Given the description of an element on the screen output the (x, y) to click on. 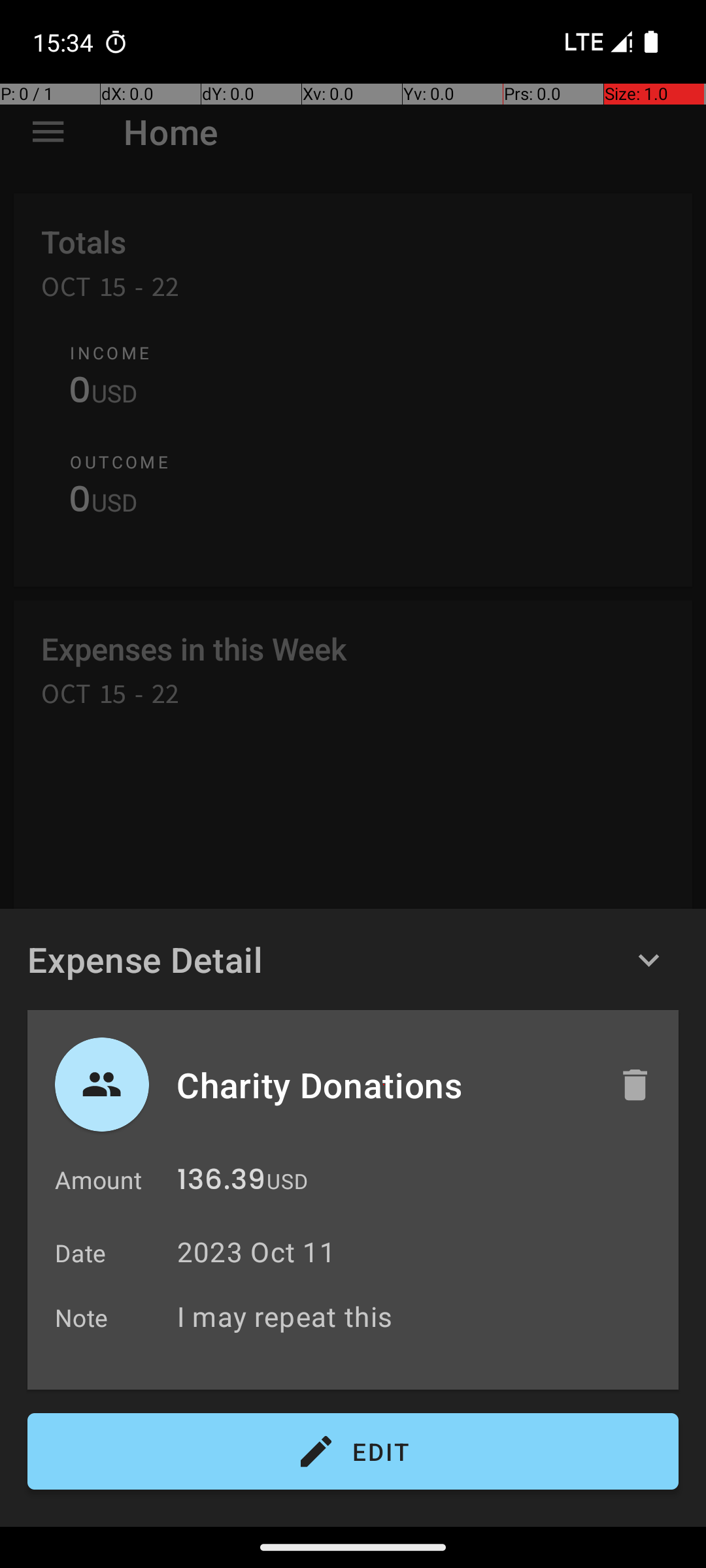
Charity Donations Element type: android.widget.TextView (383, 1084)
136.39 Element type: android.widget.TextView (221, 1182)
